Given the description of an element on the screen output the (x, y) to click on. 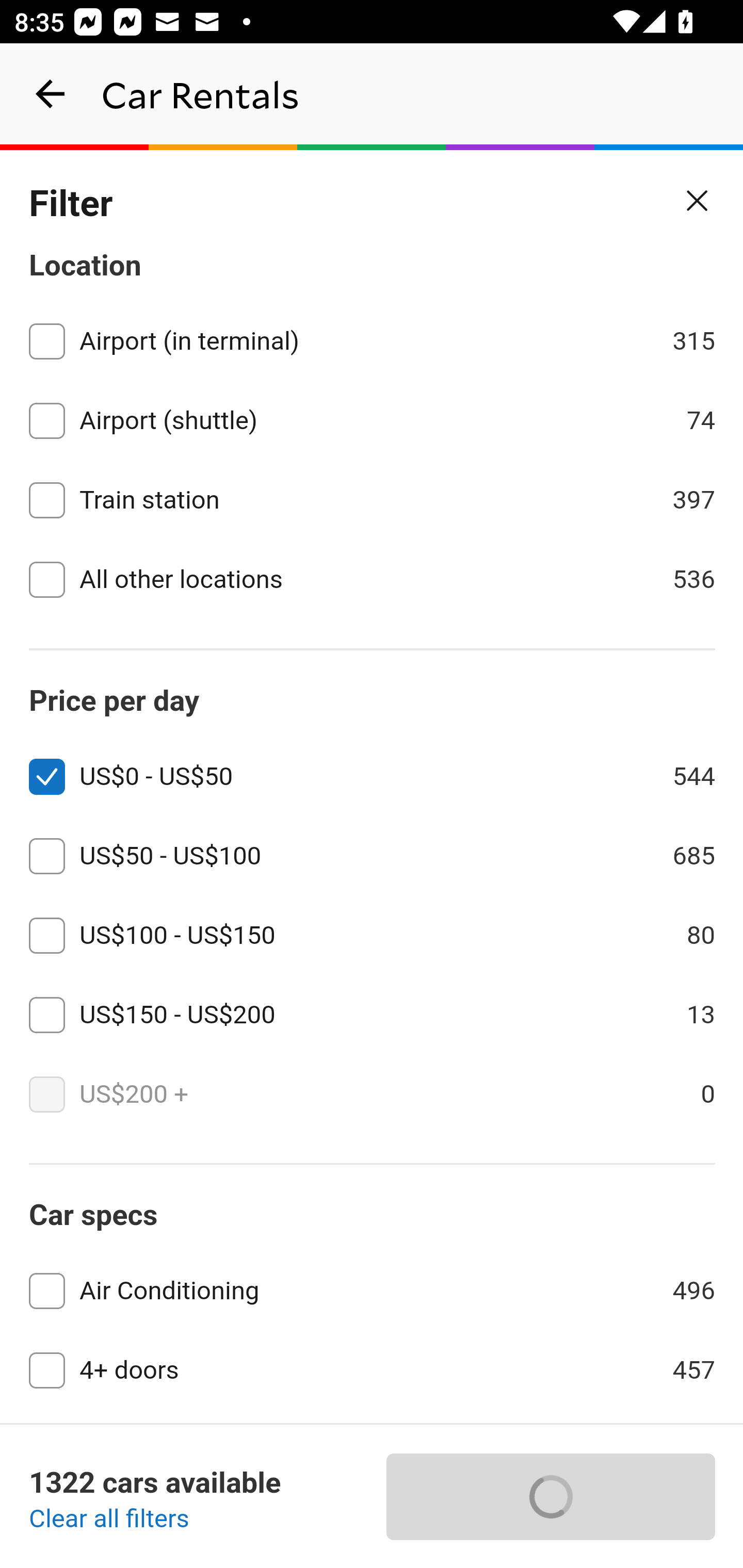
navigation_button (50, 93)
Close (697, 201)
Clear all filters (108, 1519)
